Given the description of an element on the screen output the (x, y) to click on. 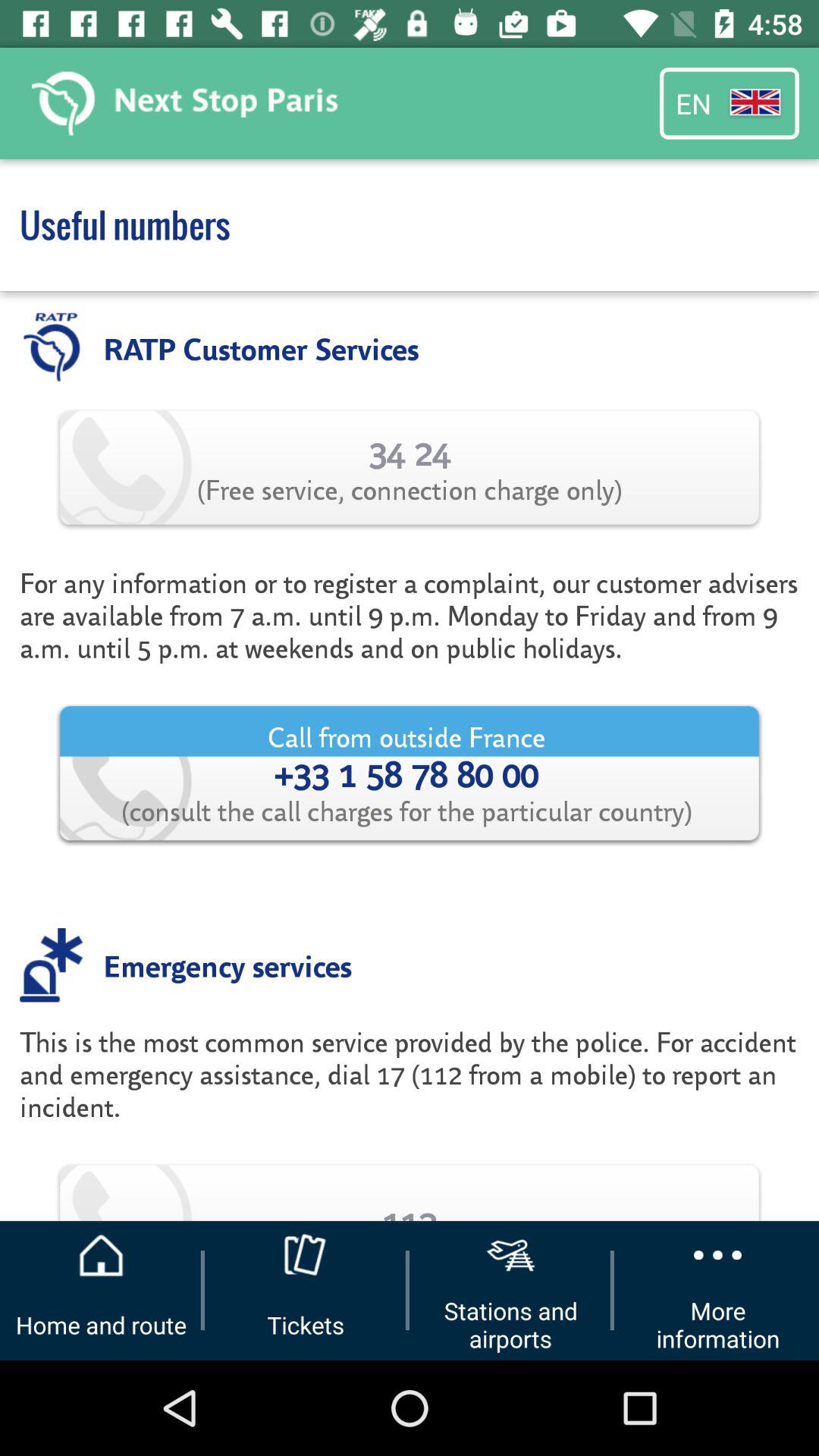
scroll to for any information icon (409, 615)
